Given the description of an element on the screen output the (x, y) to click on. 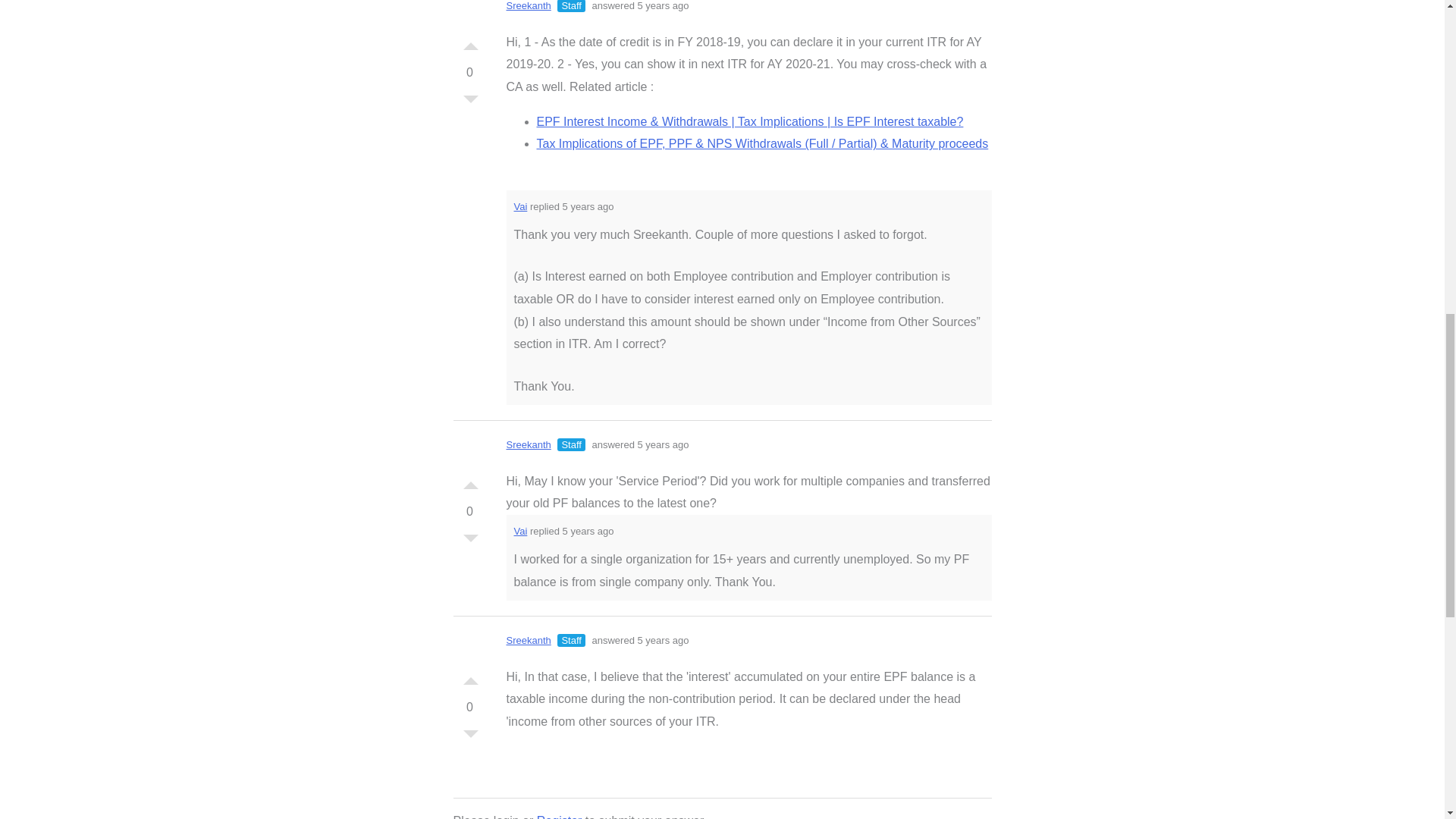
Vote Up (470, 481)
Vote Down (470, 102)
Sreekanth (528, 5)
Vai (520, 531)
Vote Up (470, 42)
Vote Up (470, 676)
Vote Down (470, 737)
Sreekanth (528, 444)
Vote Down (470, 541)
Vai (520, 206)
